Given the description of an element on the screen output the (x, y) to click on. 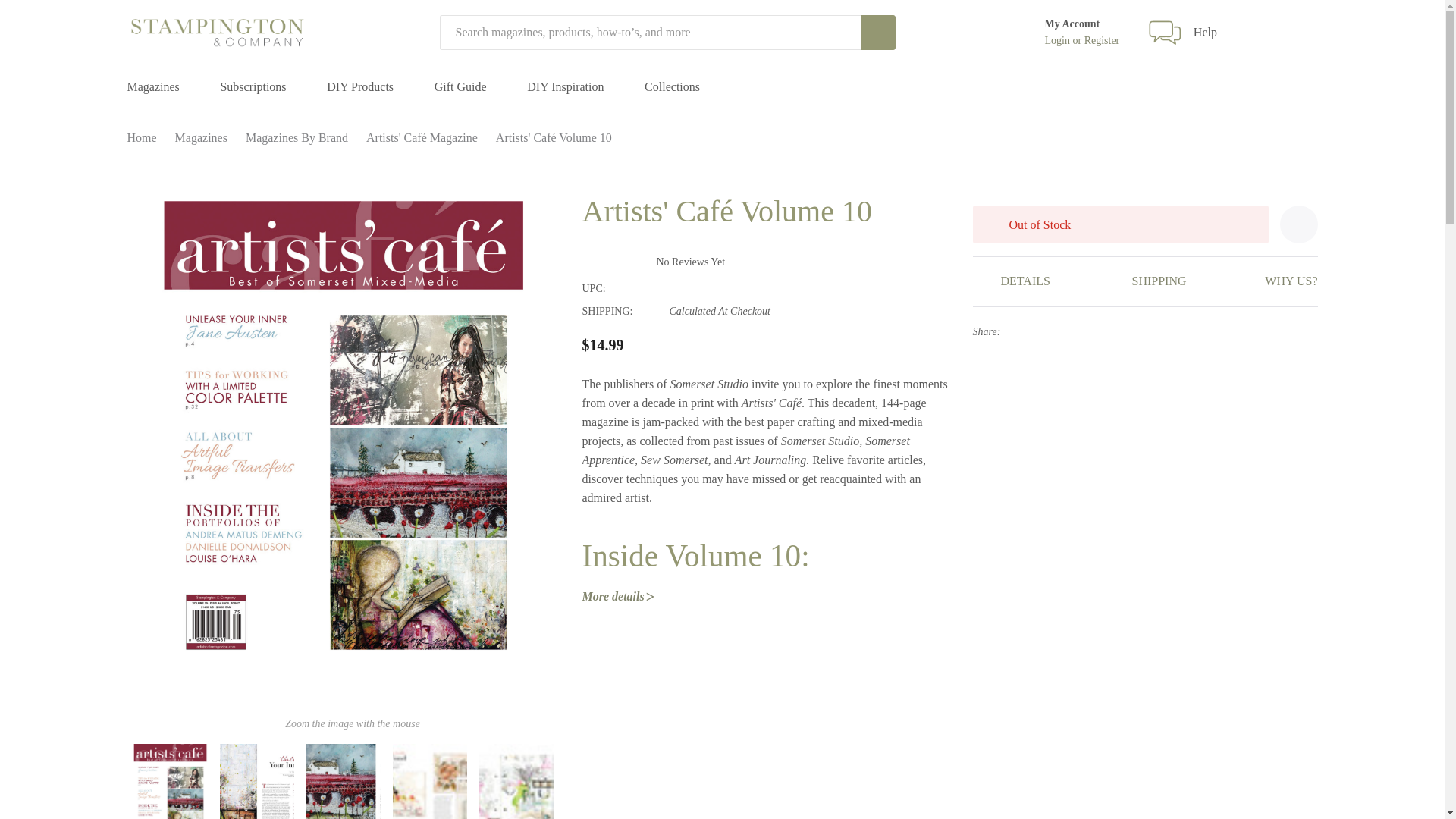
DIY Products (359, 87)
Magazines (153, 87)
Register (1101, 41)
Subscriptions (252, 87)
Help (1205, 32)
Login (1059, 41)
